Given the description of an element on the screen output the (x, y) to click on. 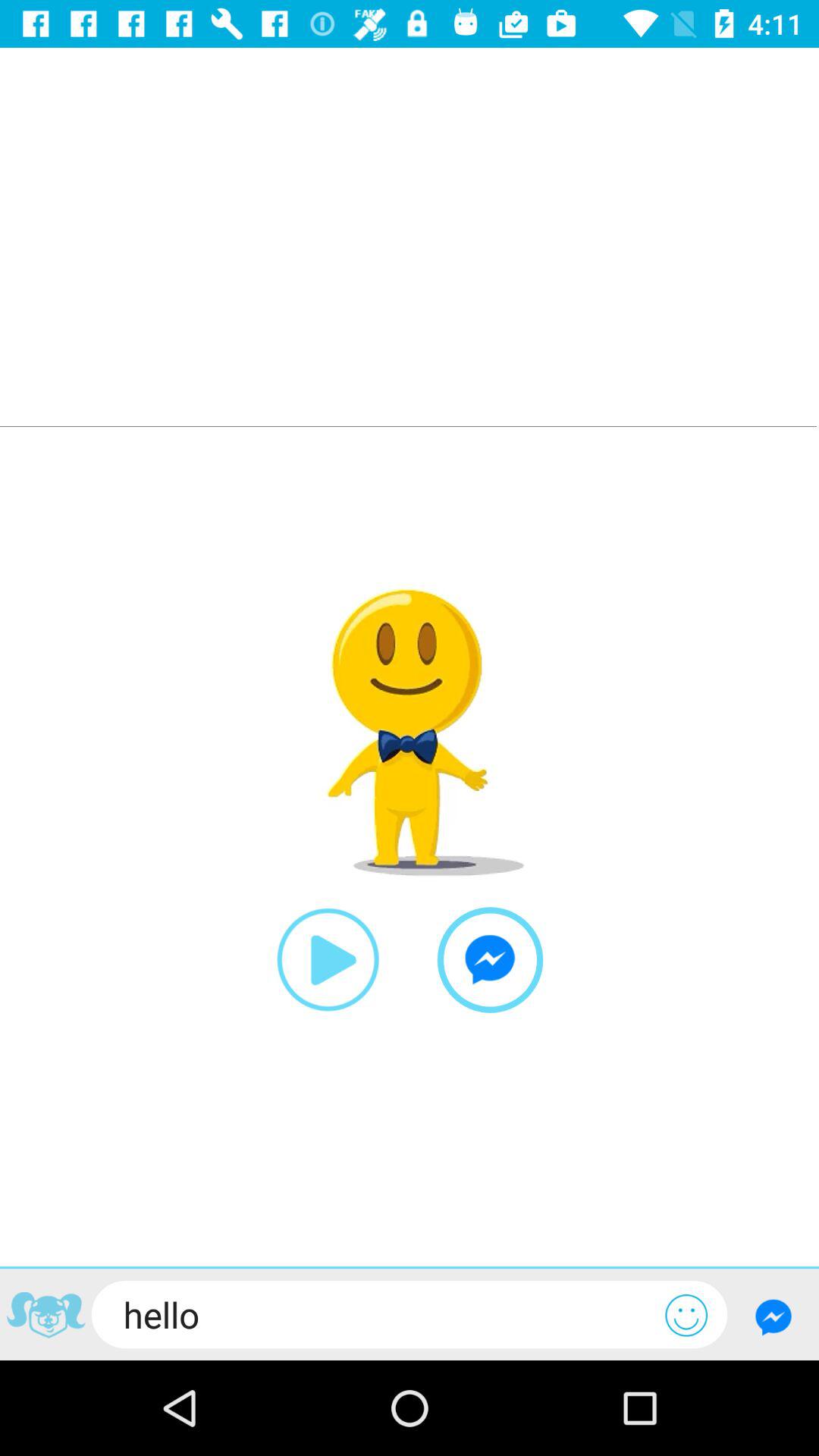
messenger (490, 959)
